Given the description of an element on the screen output the (x, y) to click on. 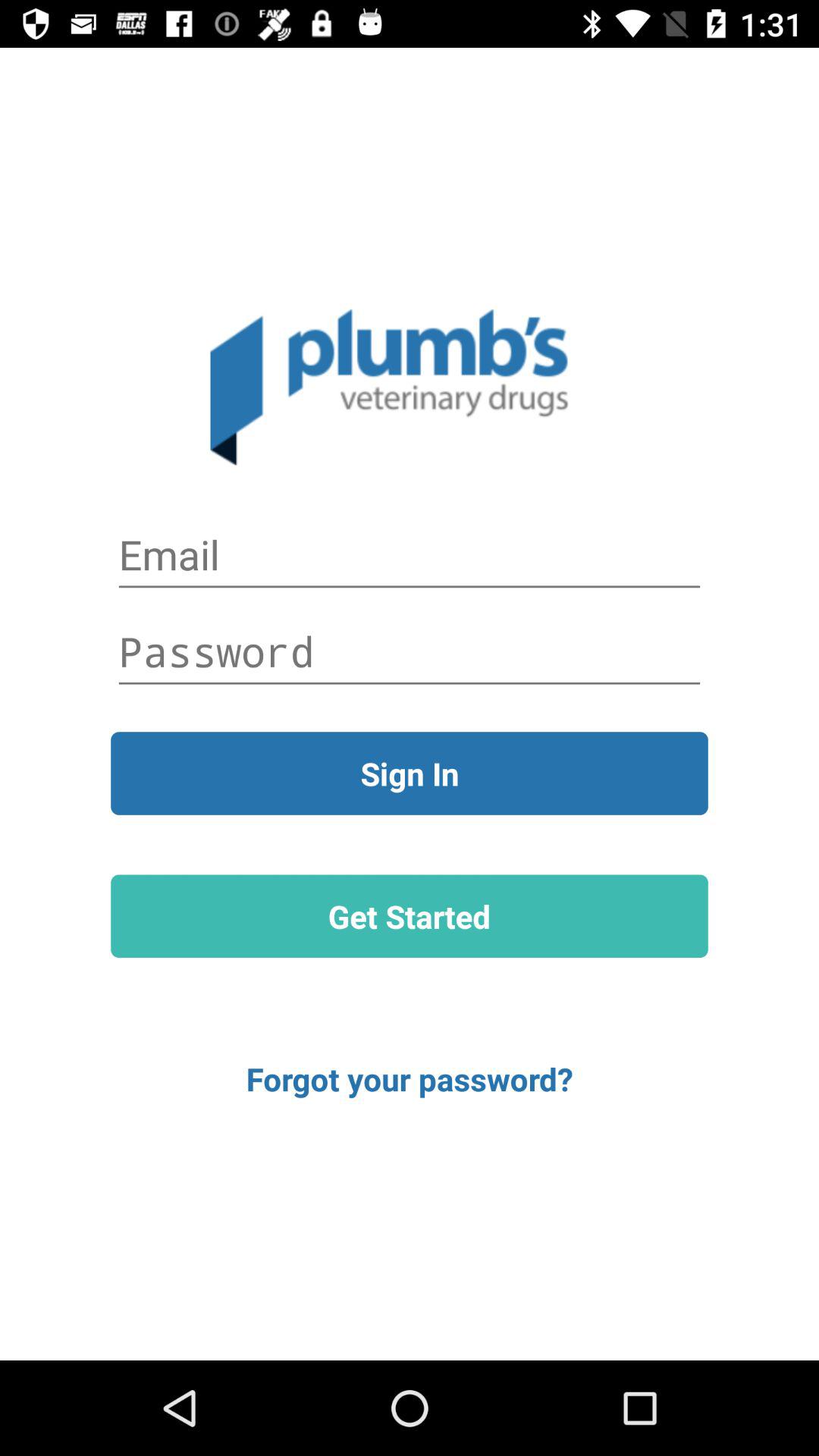
type password here (409, 651)
